Given the description of an element on the screen output the (x, y) to click on. 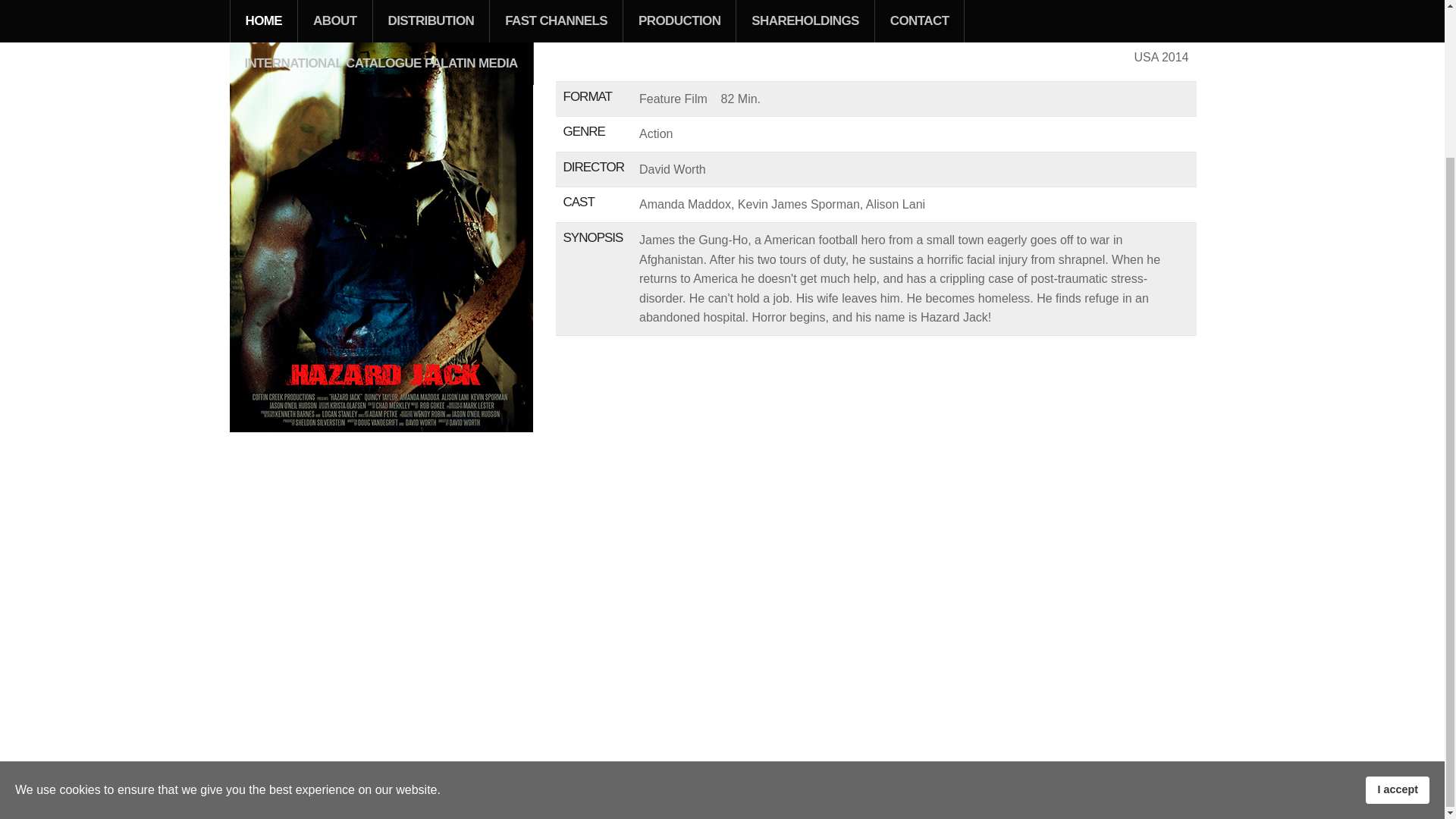
Data Protection (389, 789)
Follow us on Instagram (481, 789)
Home (242, 789)
Contact us (324, 789)
Imprint (278, 789)
I accept (1397, 605)
